Given the description of an element on the screen output the (x, y) to click on. 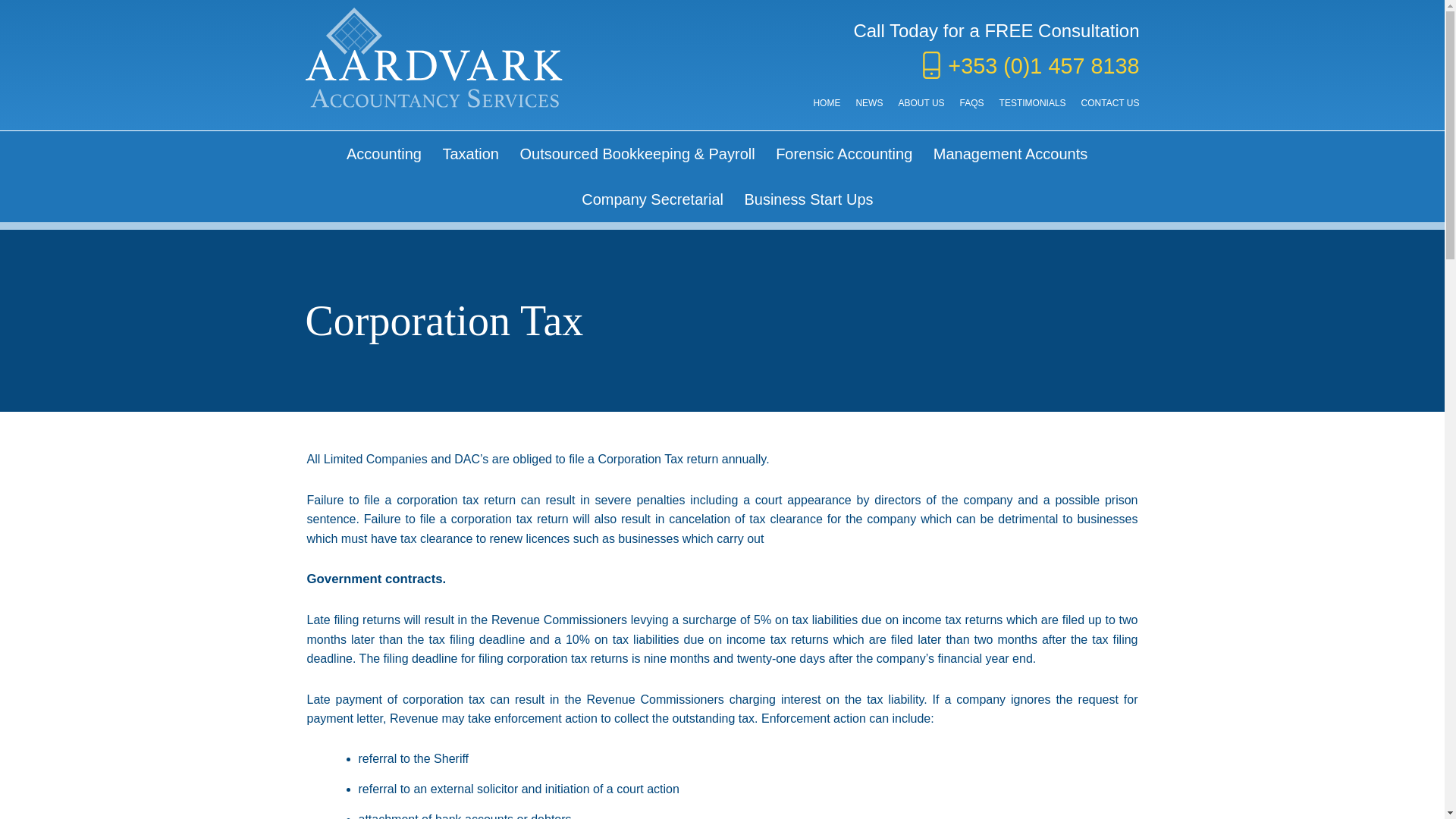
Business Start Ups (808, 199)
TESTIMONIALS (1031, 102)
Taxation (470, 153)
Management Accounts (1010, 153)
Company Secretarial (651, 199)
NEWS (869, 102)
ABOUT US (920, 102)
CONTACT US (1110, 102)
HOME (826, 102)
FAQS (971, 102)
Forensic Accounting (844, 153)
Accounting (384, 153)
